Given the description of an element on the screen output the (x, y) to click on. 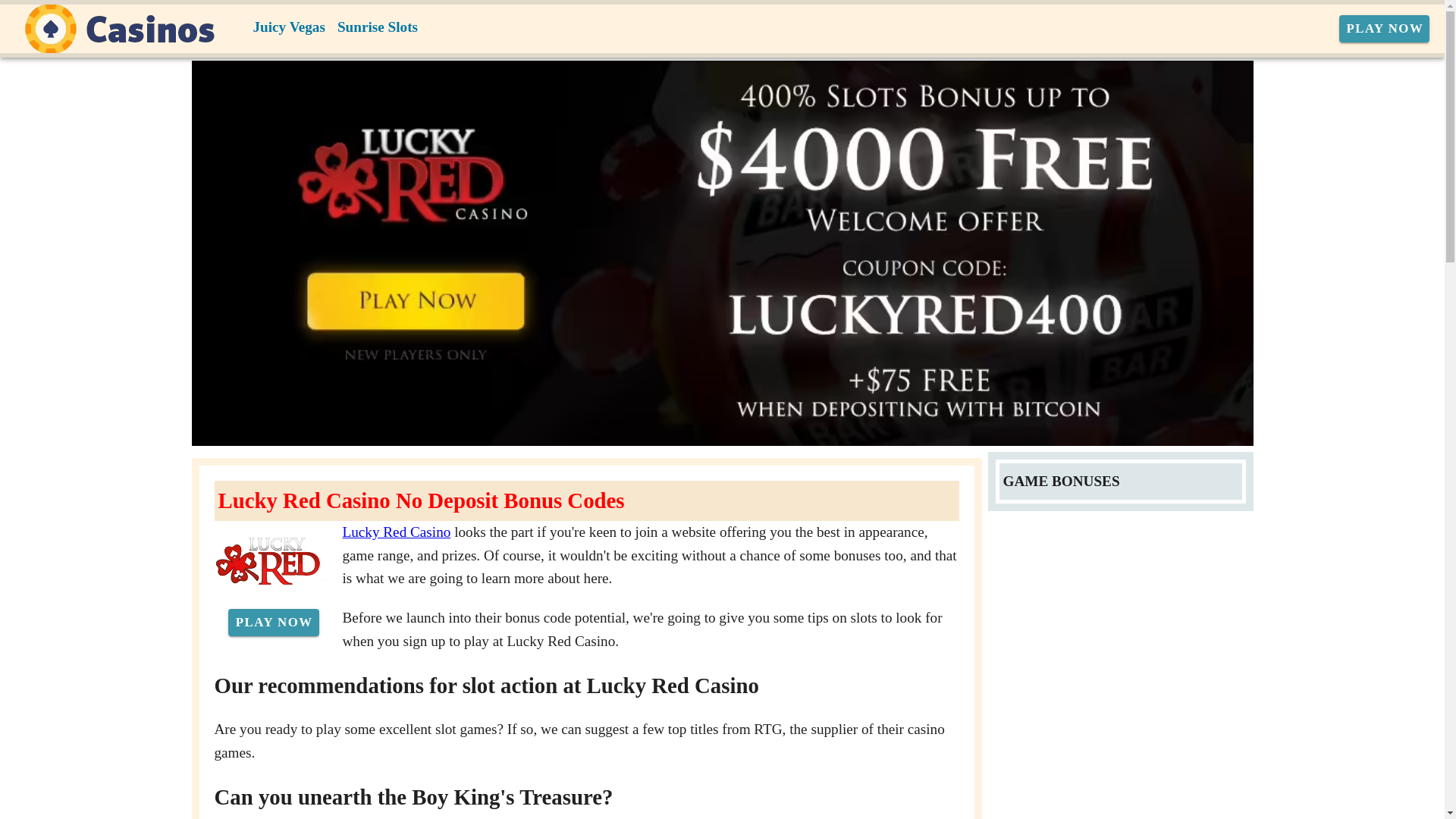
PLAY NOW (1384, 28)
Sunrise Slots (377, 27)
Lucky Red Casino (396, 531)
PLAY NOW (273, 622)
Juicy Vegas (289, 27)
